Given the description of an element on the screen output the (x, y) to click on. 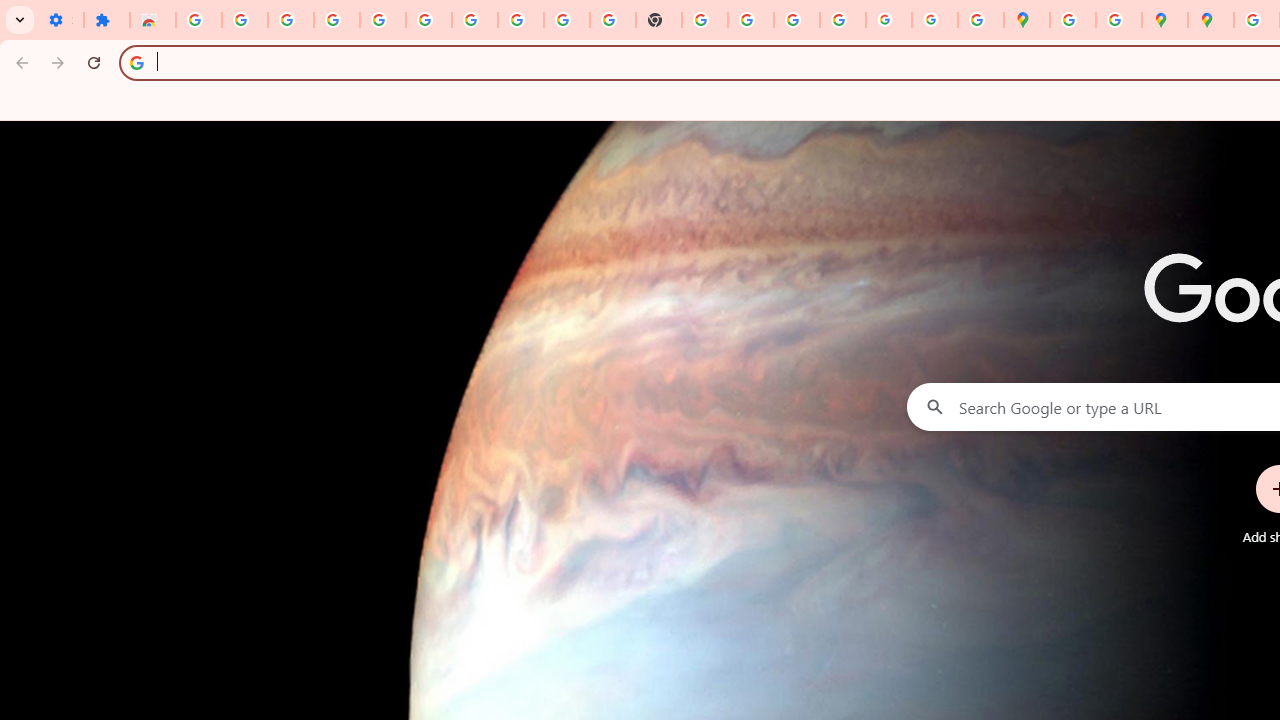
Reviews: Helix Fruit Jump Arcade Game (153, 20)
Sign in - Google Accounts (428, 20)
Settings - On startup (60, 20)
System (10, 11)
Search tabs (20, 20)
System (10, 11)
https://scholar.google.com/ (705, 20)
Google Maps (1026, 20)
